Given the description of an element on the screen output the (x, y) to click on. 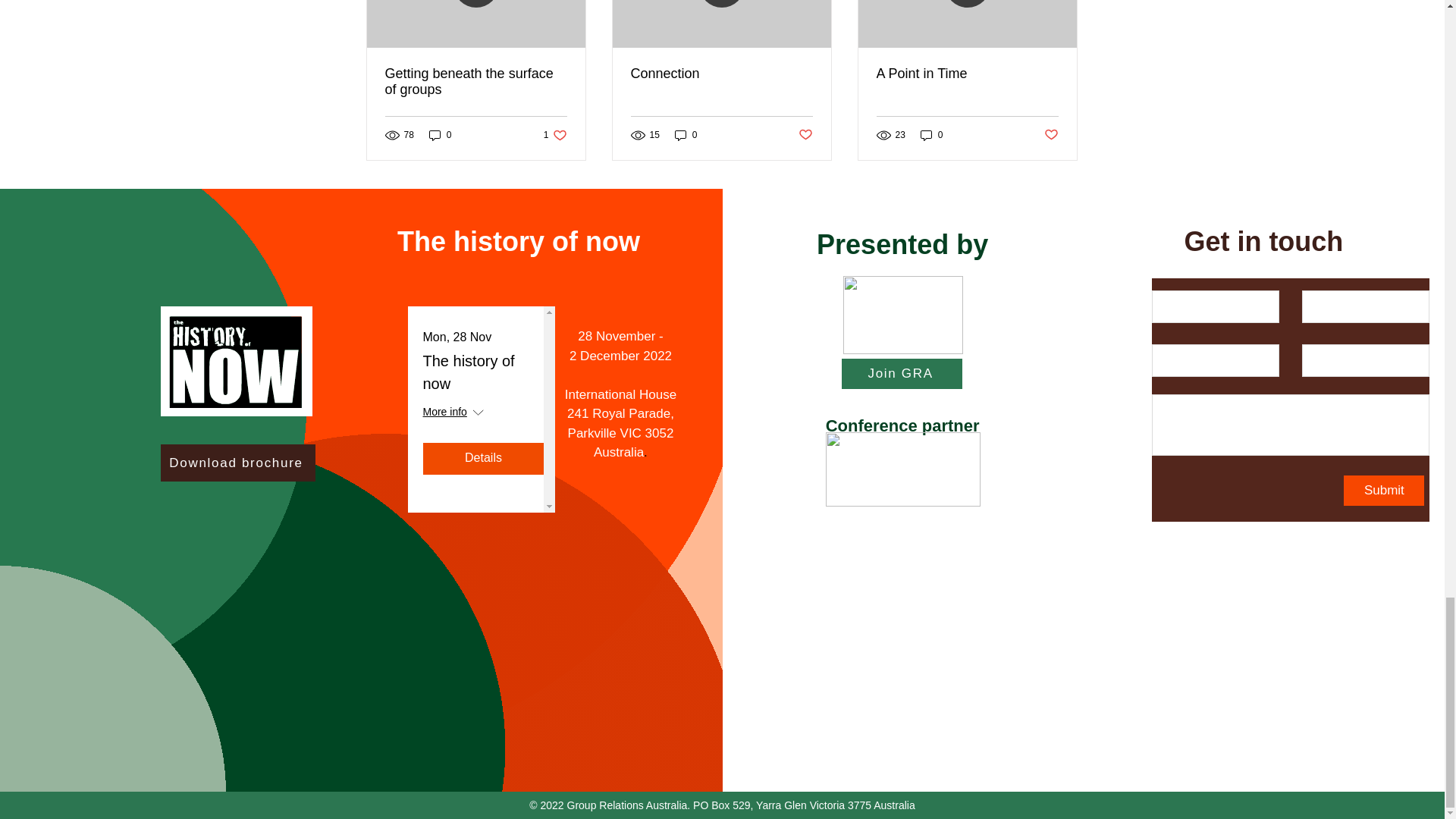
Post not marked as liked (804, 135)
Join GRA (901, 373)
Connection (721, 73)
0 (685, 134)
0 (931, 134)
Download brochure (237, 462)
the tavistock institute.jpg (902, 469)
Details (555, 134)
Getting beneath the surface of groups (483, 459)
A Point in Time (476, 81)
Submit (967, 73)
0 (1383, 490)
The history of now (440, 134)
Post not marked as liked (469, 372)
